Given the description of an element on the screen output the (x, y) to click on. 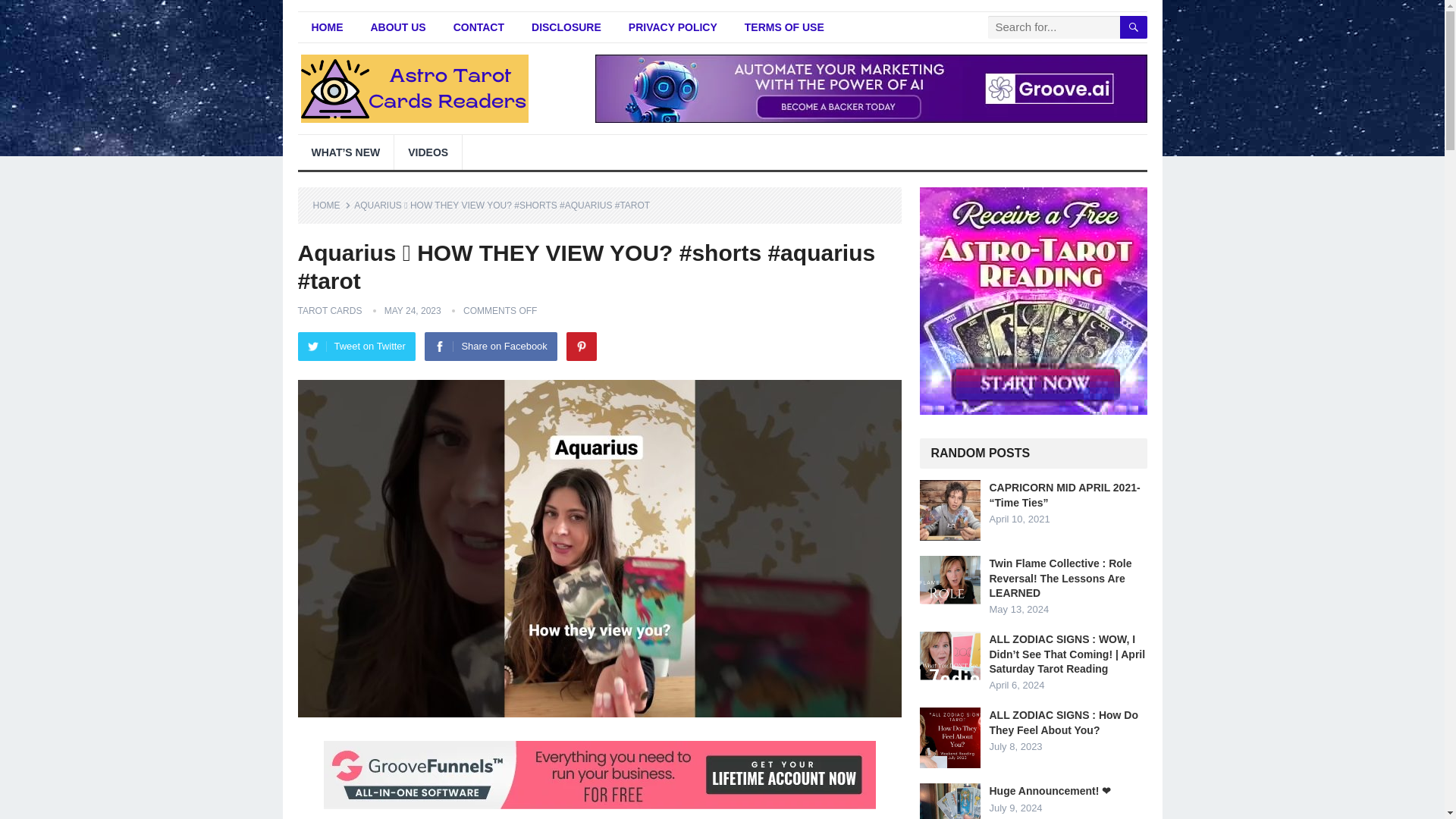
ALL ZODIAC SIGNS : How Do They Feel About You? 5 (948, 737)
HOME (331, 204)
HOME (326, 27)
VIDEOS (427, 152)
TERMS OF USE (784, 27)
Posts by Tarot Cards (329, 310)
CAPRICORN MID APRIL 2021- "Time Ties" 2 (948, 509)
Tweet on Twitter (355, 346)
